Given the description of an element on the screen output the (x, y) to click on. 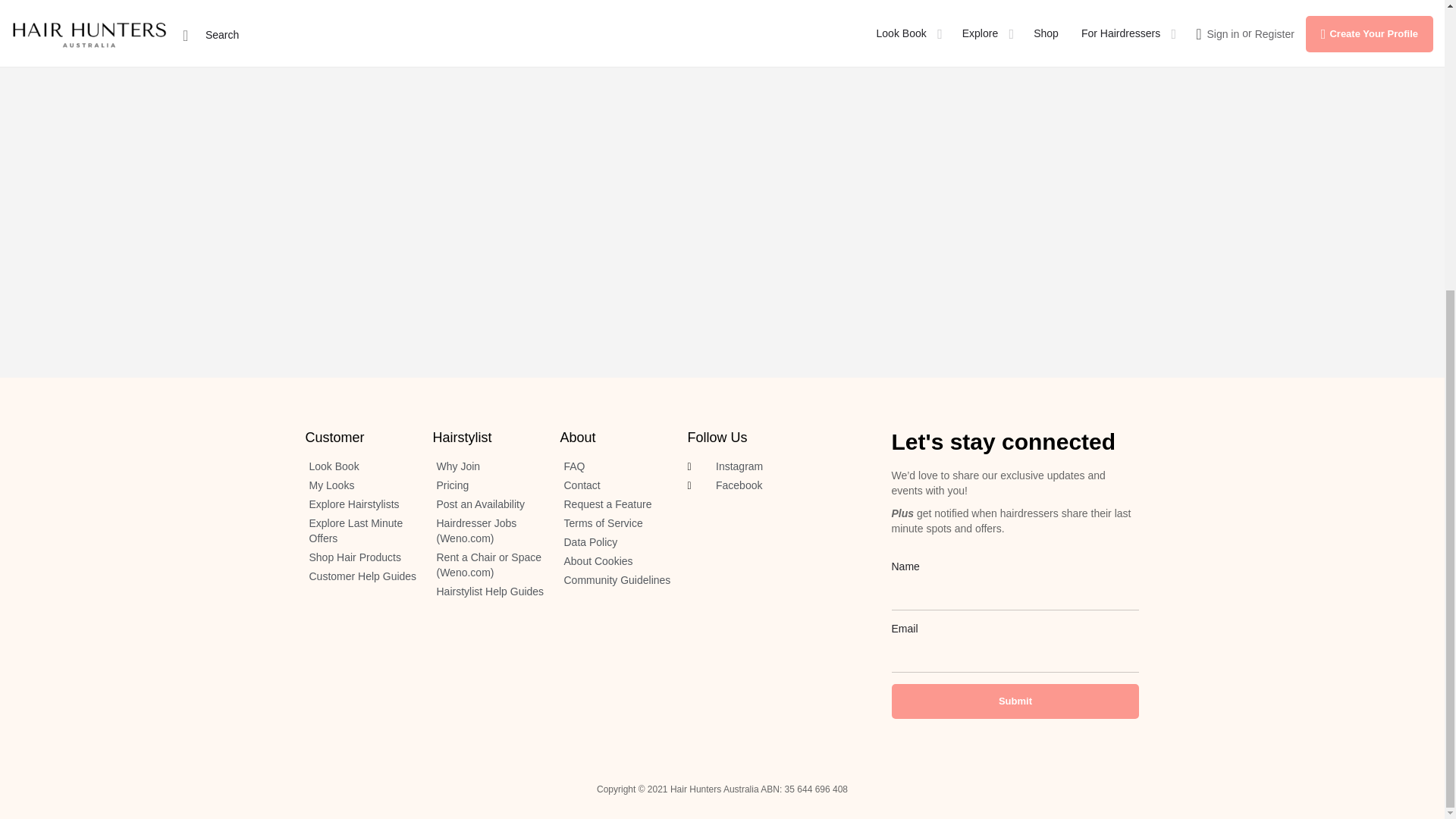
Terms of Service (615, 523)
Data Policy (615, 542)
Contact (615, 485)
Shop Hair Products (360, 557)
Explore Last Minute Offers (360, 531)
FAQ (615, 467)
Pricing (488, 485)
My Looks (360, 485)
Explore Hairstylists (360, 504)
Post an Availability (488, 504)
Look Book (360, 467)
Hairstylist Help Guides (488, 591)
Request a Feature (615, 504)
Submit (1015, 701)
Customer Help Guides (360, 576)
